Given the description of an element on the screen output the (x, y) to click on. 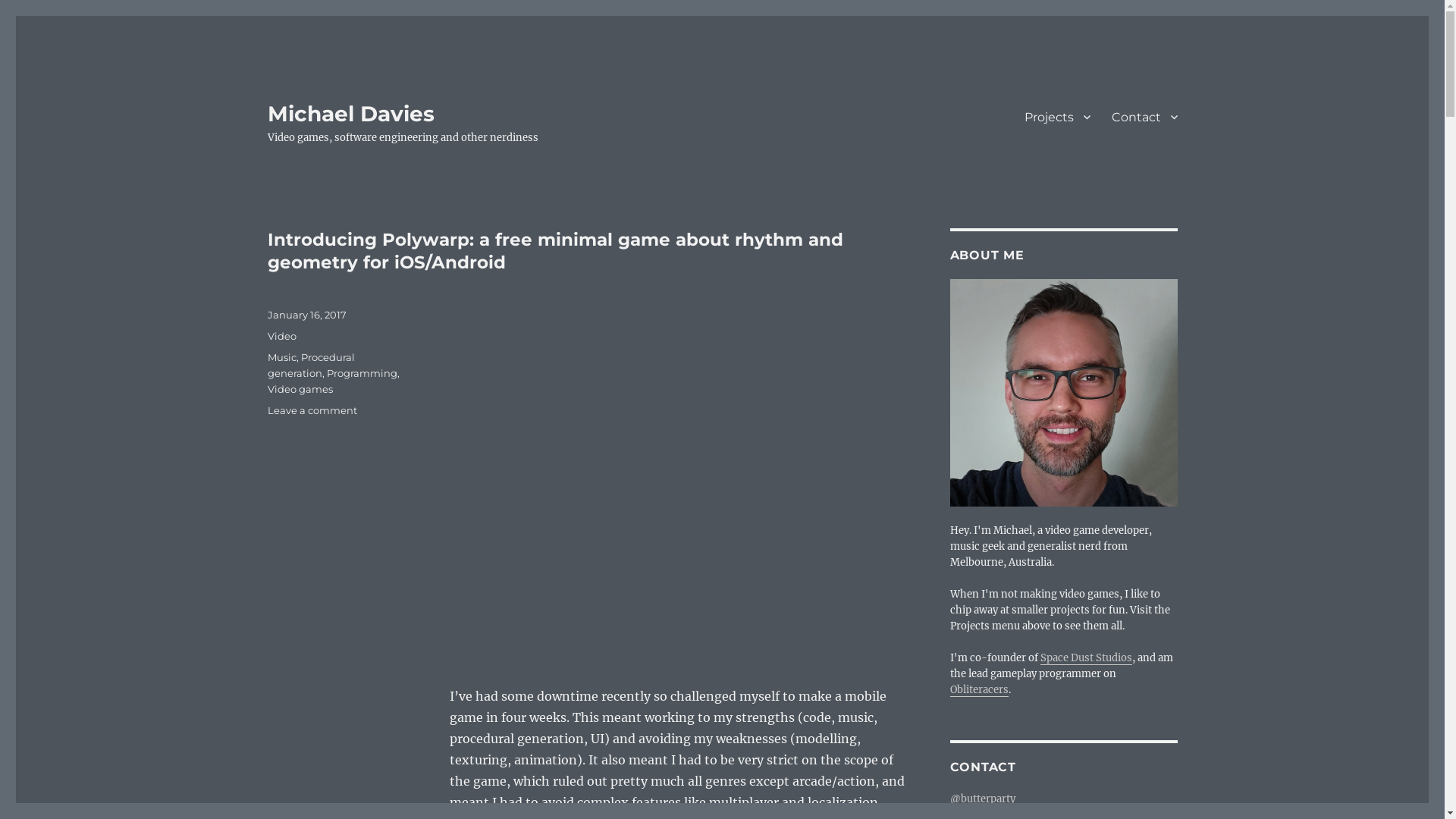
Video games Element type: text (299, 388)
Music Element type: text (280, 357)
Contact Element type: text (1144, 116)
Video Element type: text (280, 335)
Procedural generation Element type: text (310, 365)
January 16, 2017 Element type: text (305, 314)
Programming Element type: text (361, 373)
Obliteracers Element type: text (978, 689)
Space Dust Studios Element type: text (1086, 657)
Michael Davies Element type: text (349, 113)
@butterparty Element type: text (981, 798)
Projects Element type: text (1056, 116)
